Given the description of an element on the screen output the (x, y) to click on. 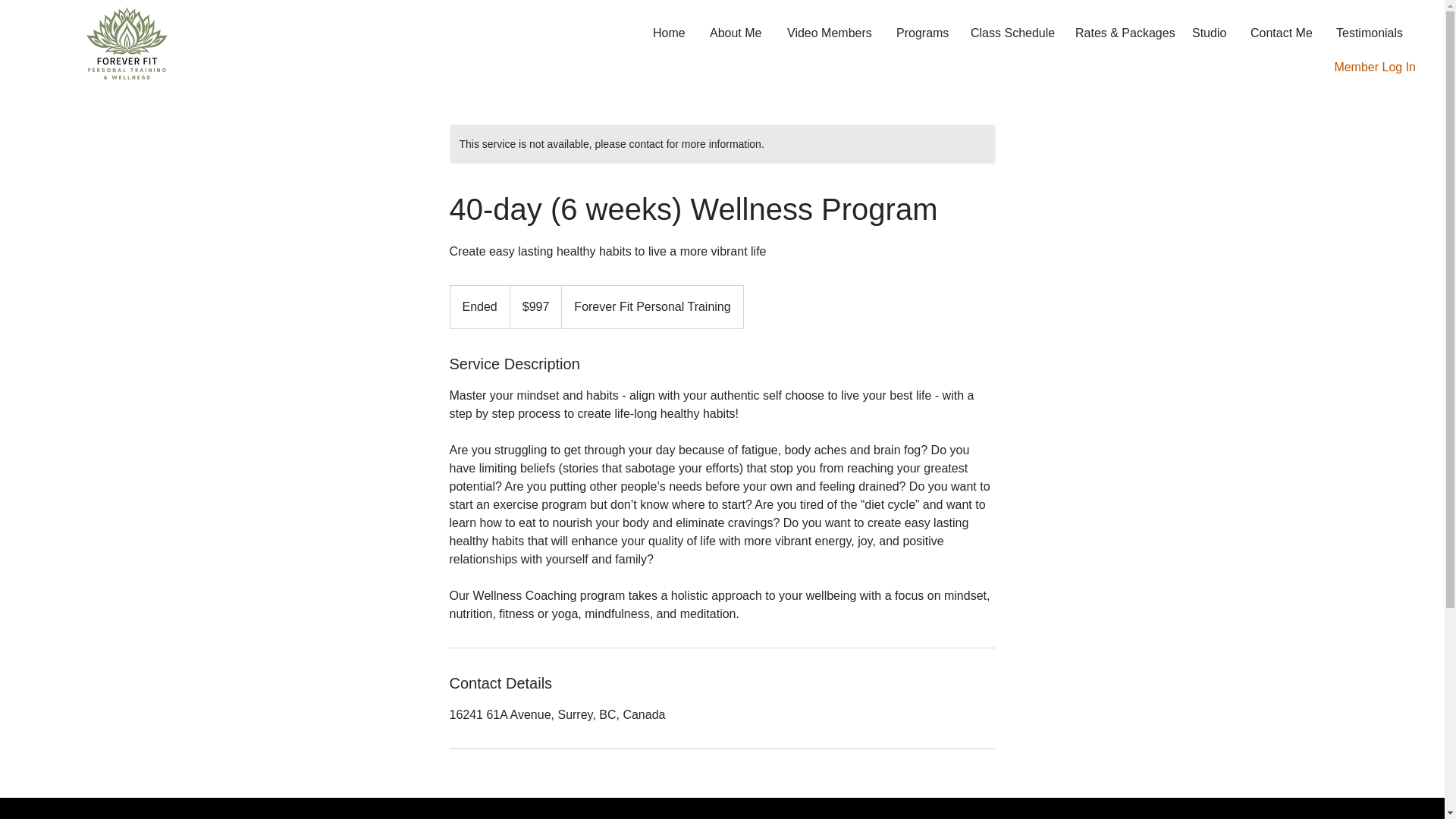
Video Members (830, 32)
Member Log In (1374, 67)
Contact Me (1281, 32)
Class Schedule (1011, 32)
Studio (1209, 32)
About Me (737, 32)
Home (670, 32)
Testimonials (1368, 32)
Programs (922, 32)
